Given the description of an element on the screen output the (x, y) to click on. 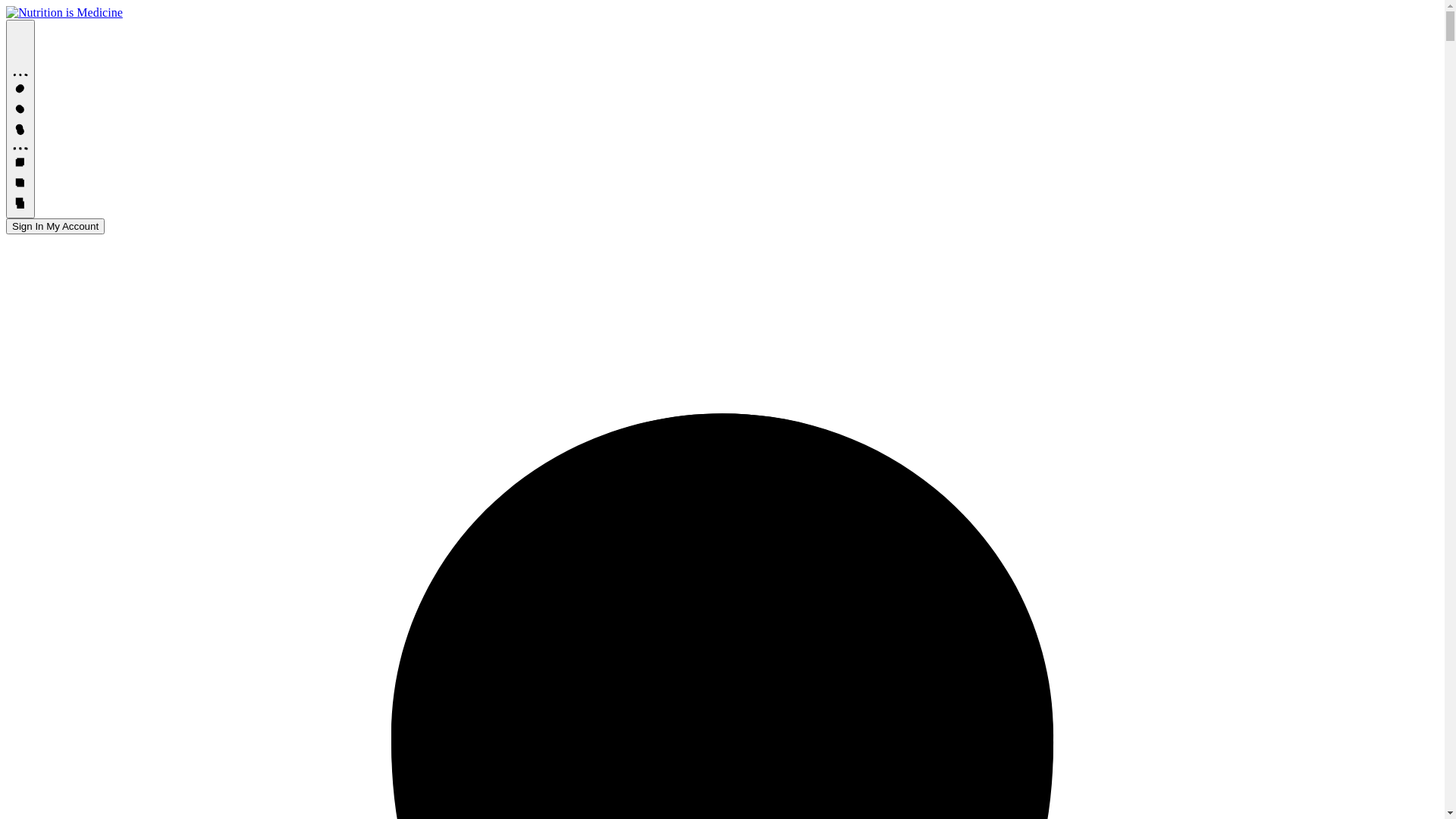
Sign In My Account Element type: text (55, 226)
